Given the description of an element on the screen output the (x, y) to click on. 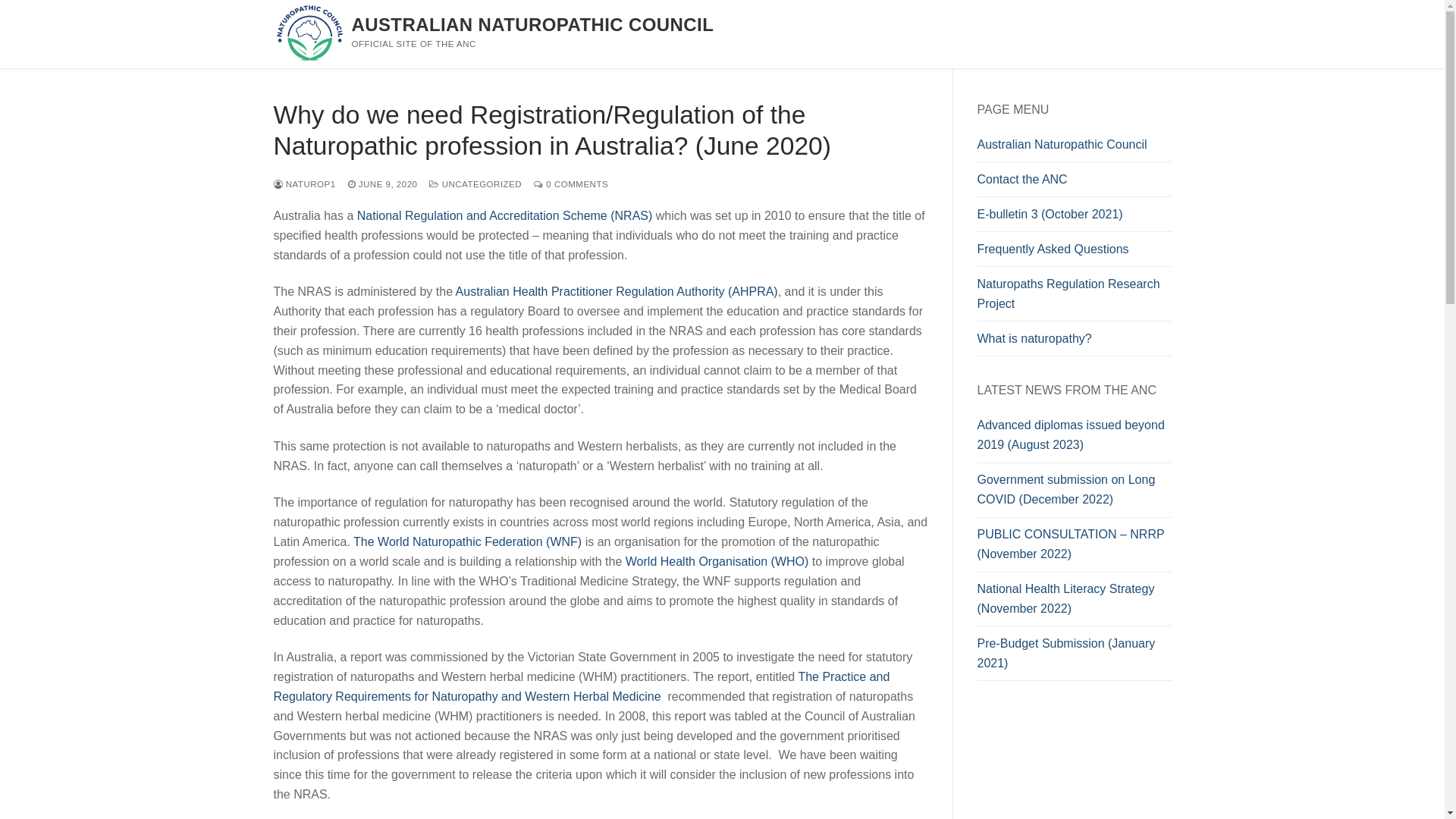
Australian Health Practitioner Regulation Authority (AHPRA) Element type: text (616, 291)
Government submission on Long COVID (December 2022) Element type: text (1073, 493)
E-bulletin 3 (October 2021) Element type: text (1073, 218)
National Health Literacy Strategy (November 2022) Element type: text (1073, 602)
National Regulation and Accreditation Scheme (NRAS) Element type: text (504, 215)
Pre-Budget Submission (January 2021) Element type: text (1073, 656)
Australian Naturopathic Council Element type: text (1073, 148)
AUSTRALIAN NATUROPATHIC COUNCIL Element type: text (532, 24)
NATUROP1 Element type: text (304, 183)
What is naturopathy? Element type: text (1073, 342)
0 COMMENTS Element type: text (570, 183)
UNCATEGORIZED Element type: text (475, 183)
Frequently Asked Questions Element type: text (1073, 252)
Contact the ANC Element type: text (1073, 183)
Advanced diplomas issued beyond 2019 (August 2023) Element type: text (1073, 438)
JUNE 9, 2020 Element type: text (382, 183)
Naturopaths Regulation Research Project Element type: text (1073, 297)
The World Naturopathic Federation (WNF) Element type: text (467, 541)
World Health Organisation (WHO) Element type: text (717, 561)
